Given the description of an element on the screen output the (x, y) to click on. 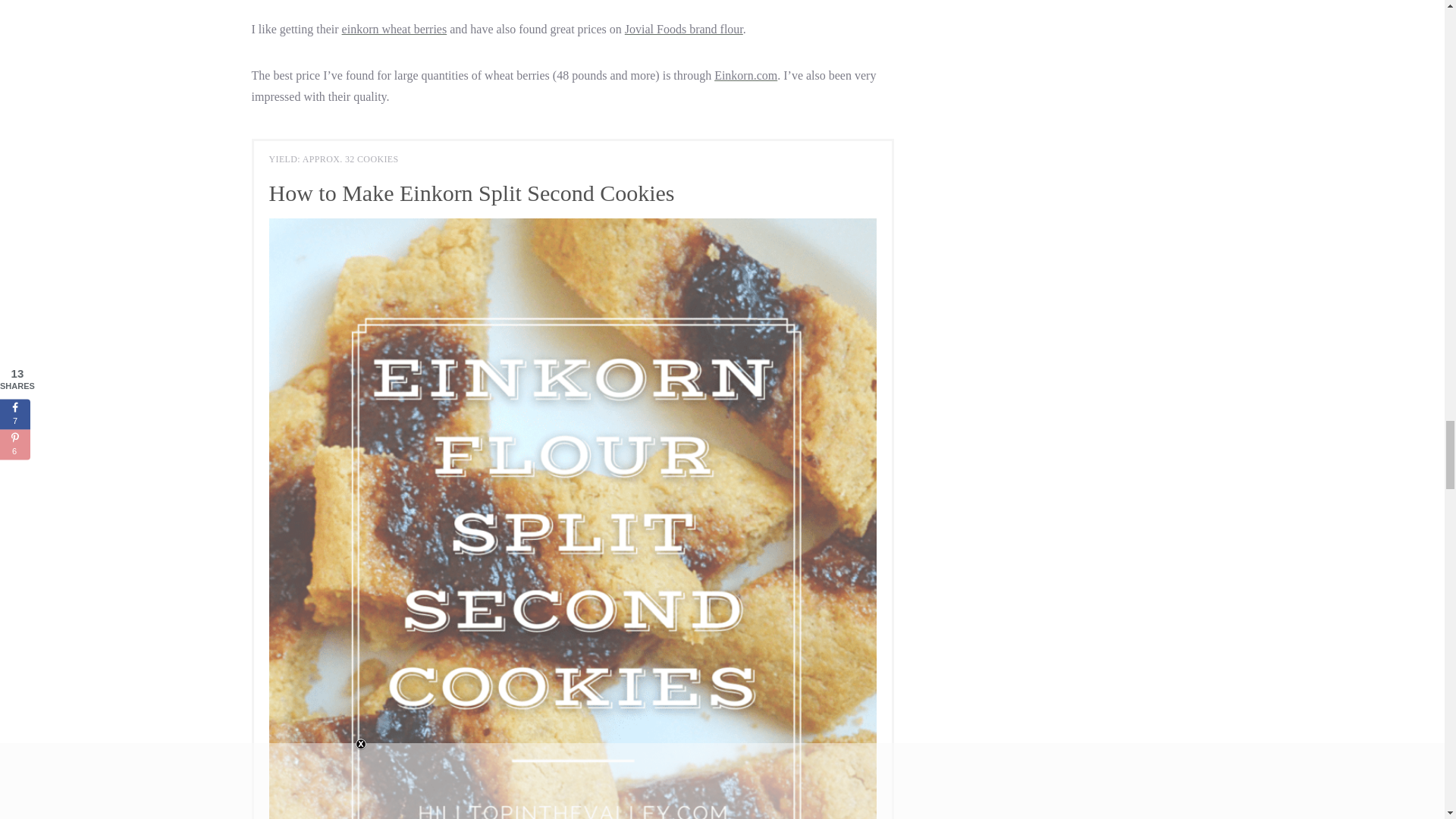
Jovial Foods brand flour (683, 29)
einkorn wheat berries (394, 29)
Einkorn.com (745, 74)
